Given the description of an element on the screen output the (x, y) to click on. 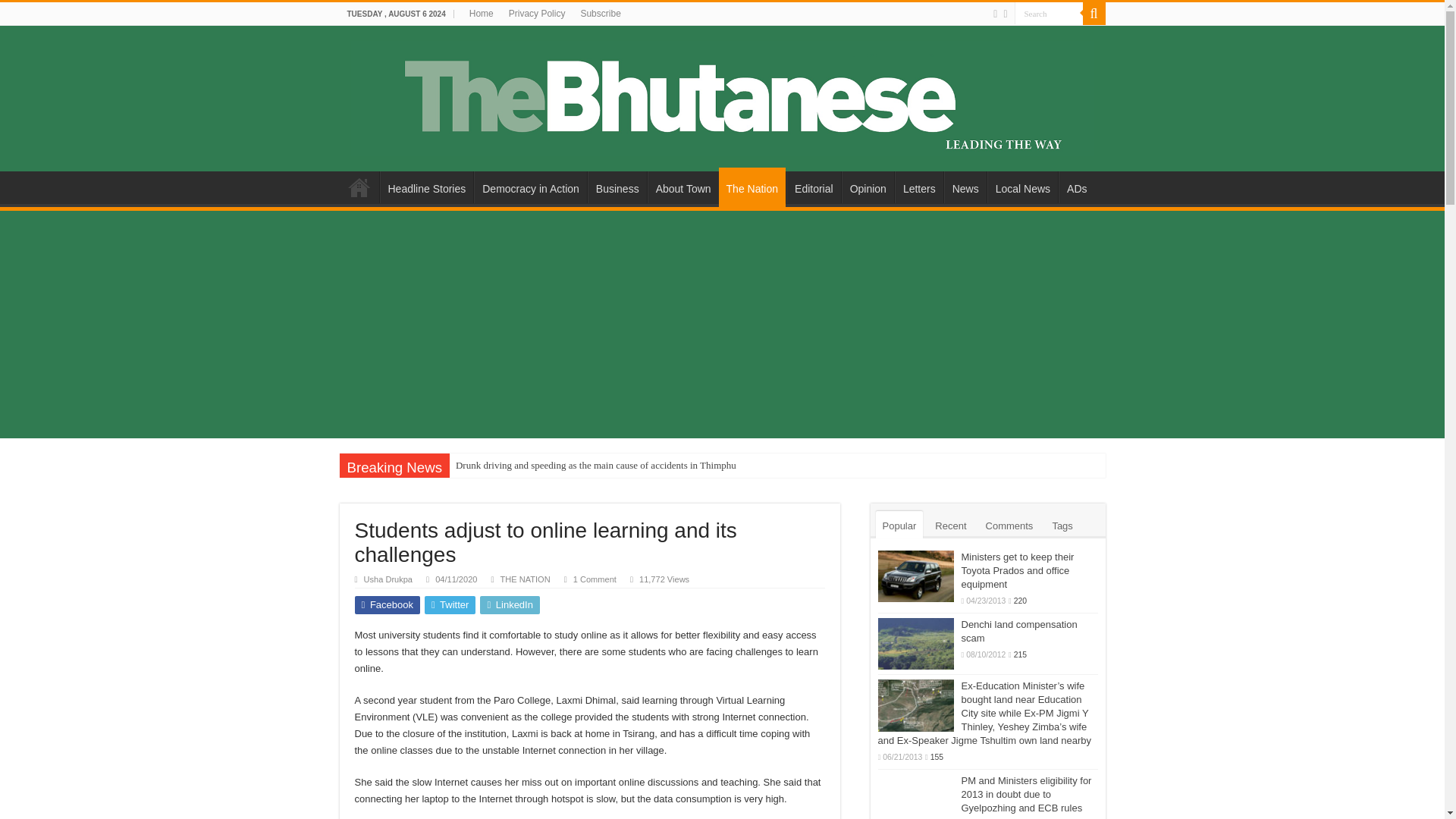
Headline Stories (425, 187)
Letters (919, 187)
Business (617, 187)
Search (1048, 13)
Search (1048, 13)
ADs (1076, 187)
Privacy Policy (536, 13)
Local News (1022, 187)
Editorial (813, 187)
